Given the description of an element on the screen output the (x, y) to click on. 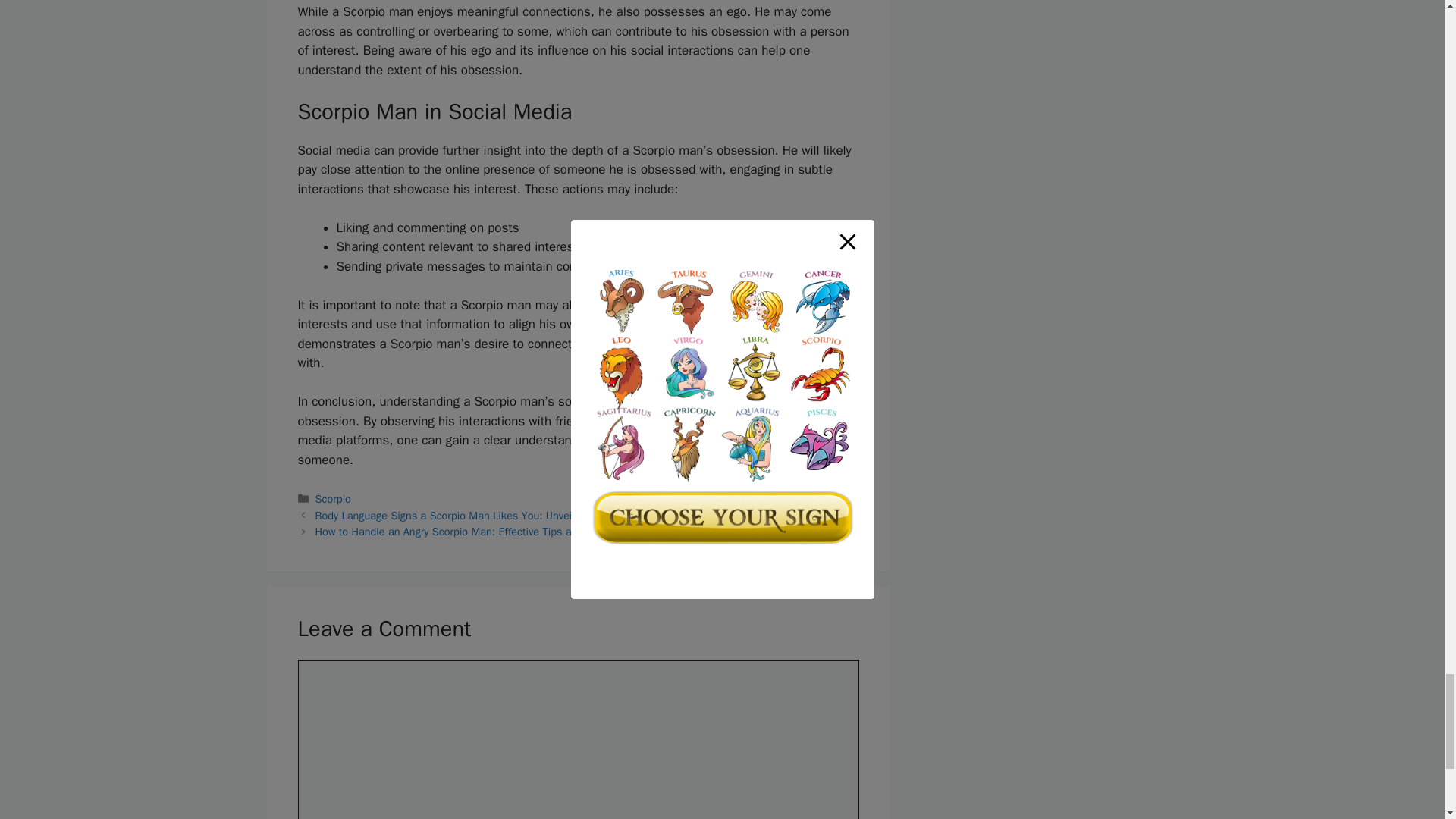
Scorpio (332, 499)
